Given the description of an element on the screen output the (x, y) to click on. 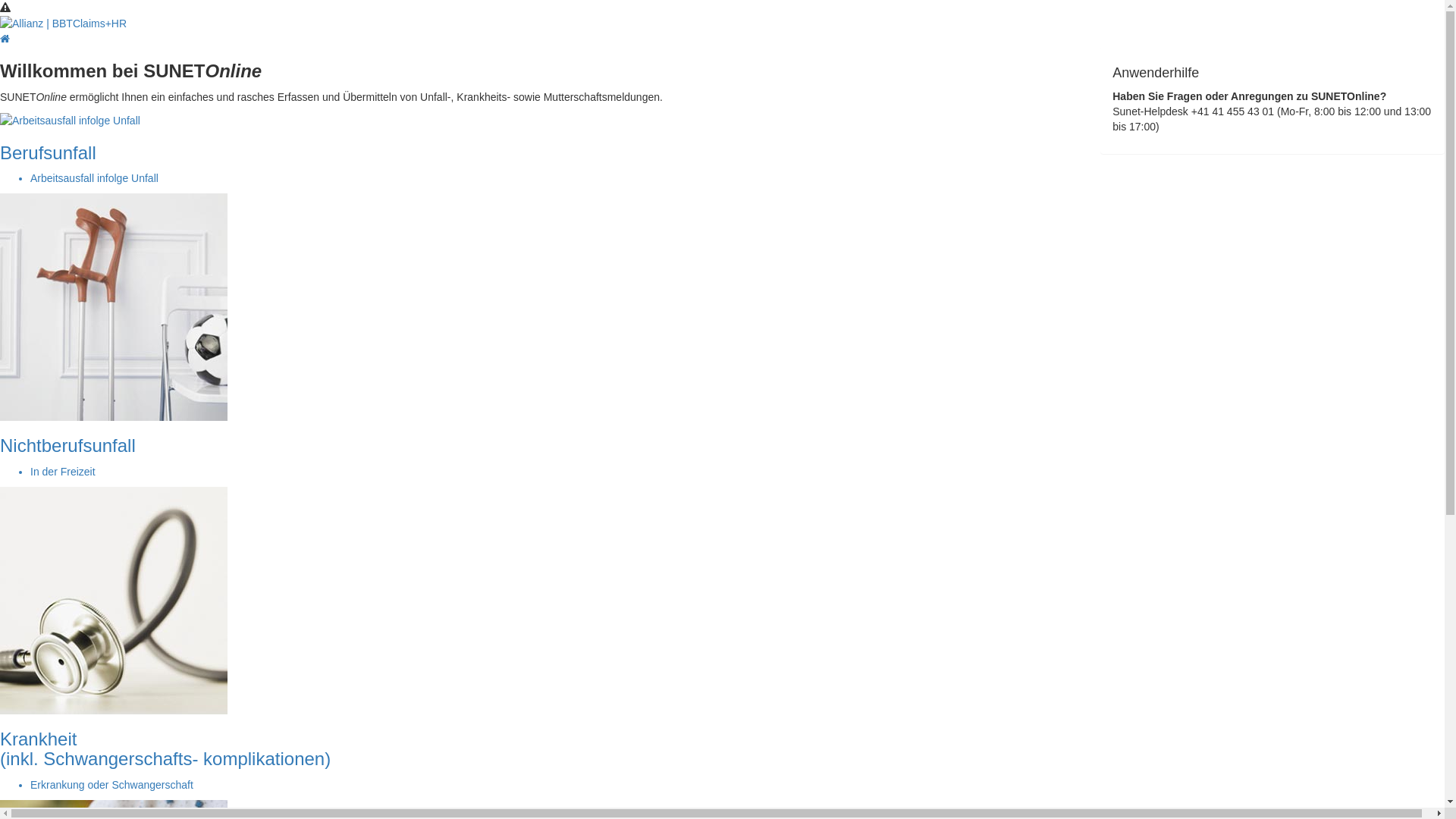
Nichtberufsunfall
In der Freizeit Element type: text (538, 389)
Berufsunfall
Arbeitsausfall infolge Unfall Element type: text (538, 149)
